Given the description of an element on the screen output the (x, y) to click on. 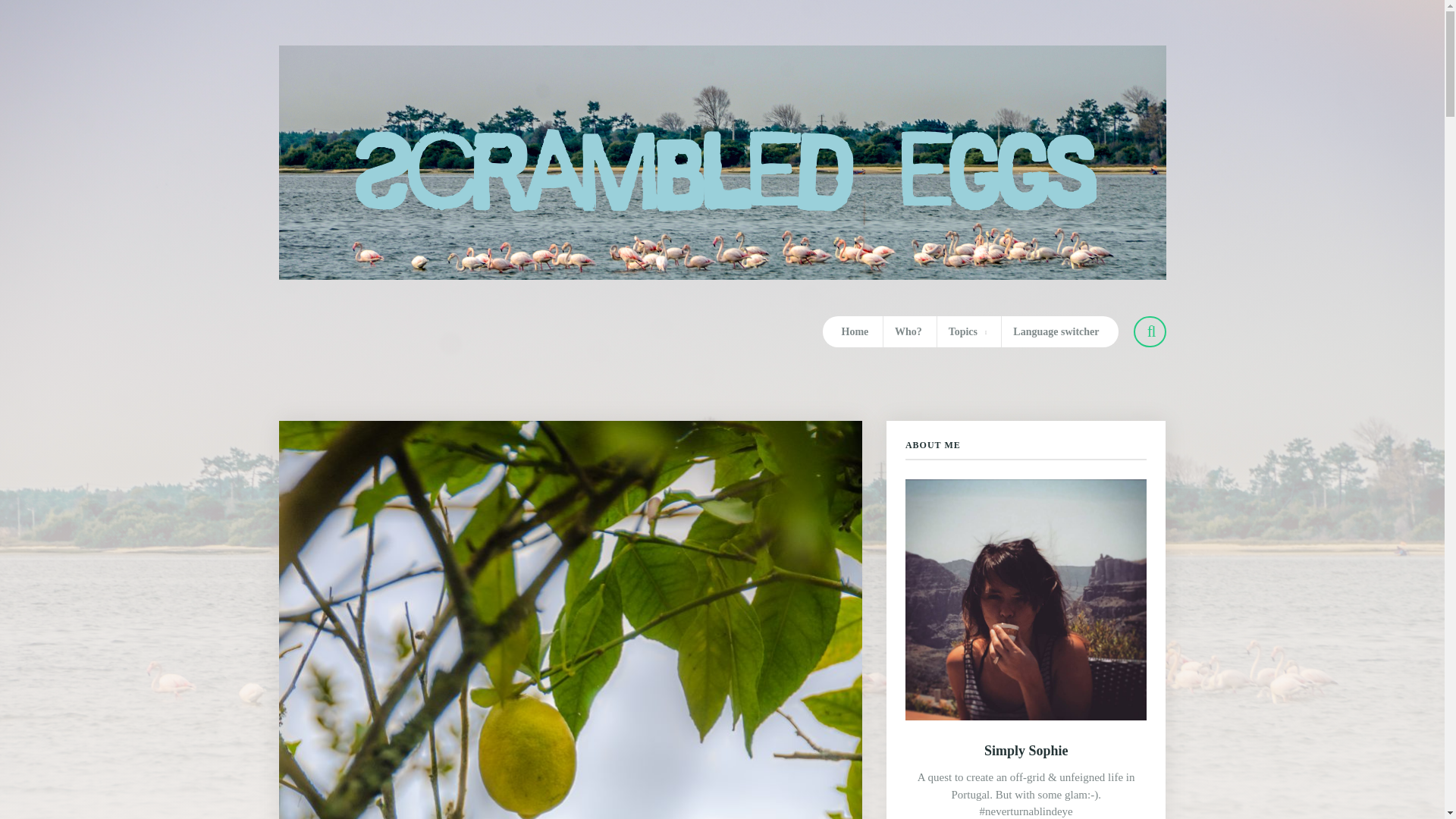
Topics (967, 331)
Home (854, 331)
Language switcher (1055, 331)
Who? (908, 331)
